Given the description of an element on the screen output the (x, y) to click on. 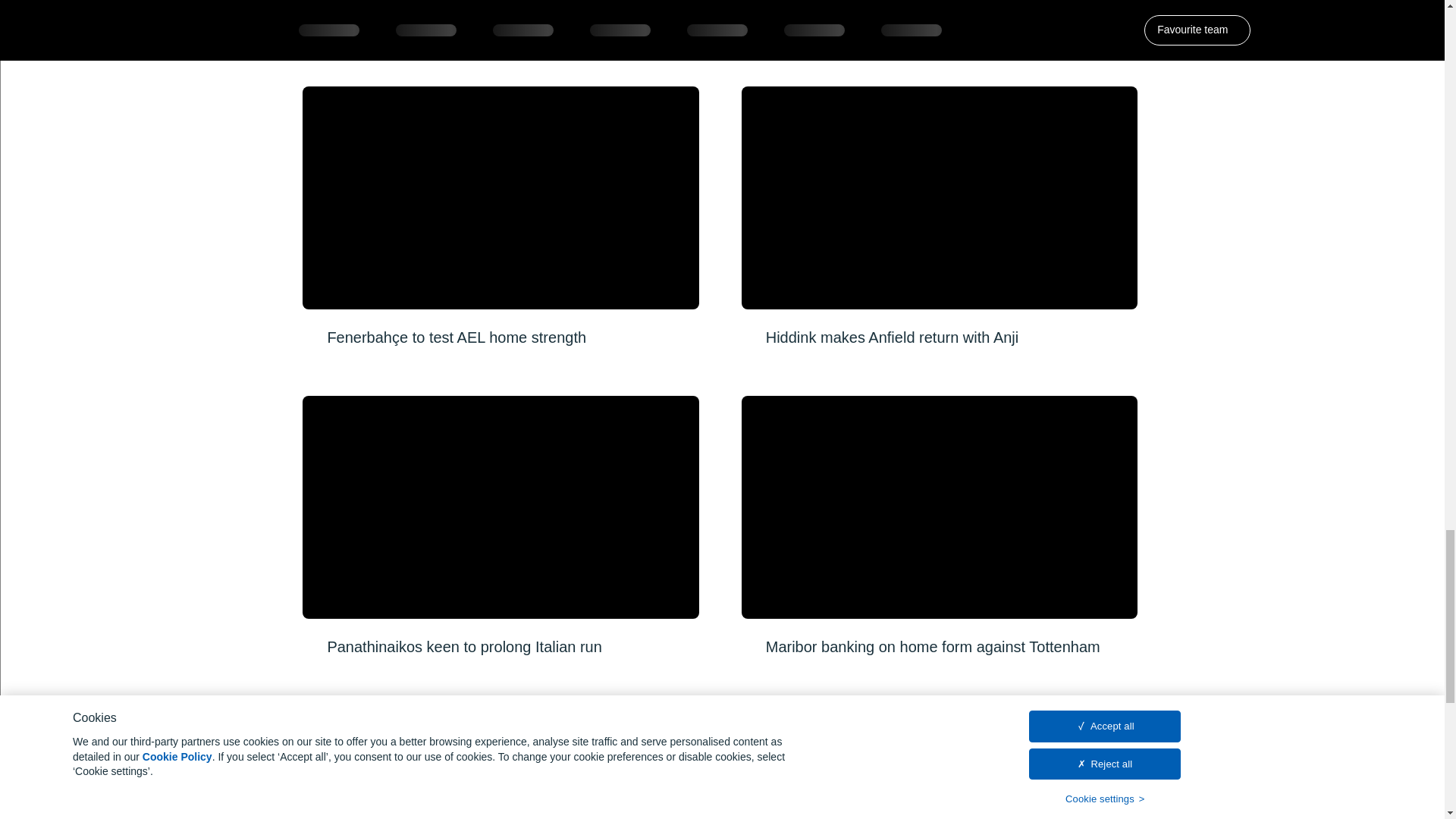
Club Brugge out to best Newcastle (939, 25)
Matches (374, 811)
Hiddink makes Anfield return with Anji (939, 197)
Hiddink makes Anfield return with Anji (939, 216)
Maribor banking on home form against Tottenham (939, 507)
Panathinaikos keen to prolong Italian run (499, 526)
Maribor banking on home form against Tottenham (939, 526)
Maribor banking on home form against Tottenham (939, 526)
Hiddink makes Anfield return with Anji (939, 216)
